Given the description of an element on the screen output the (x, y) to click on. 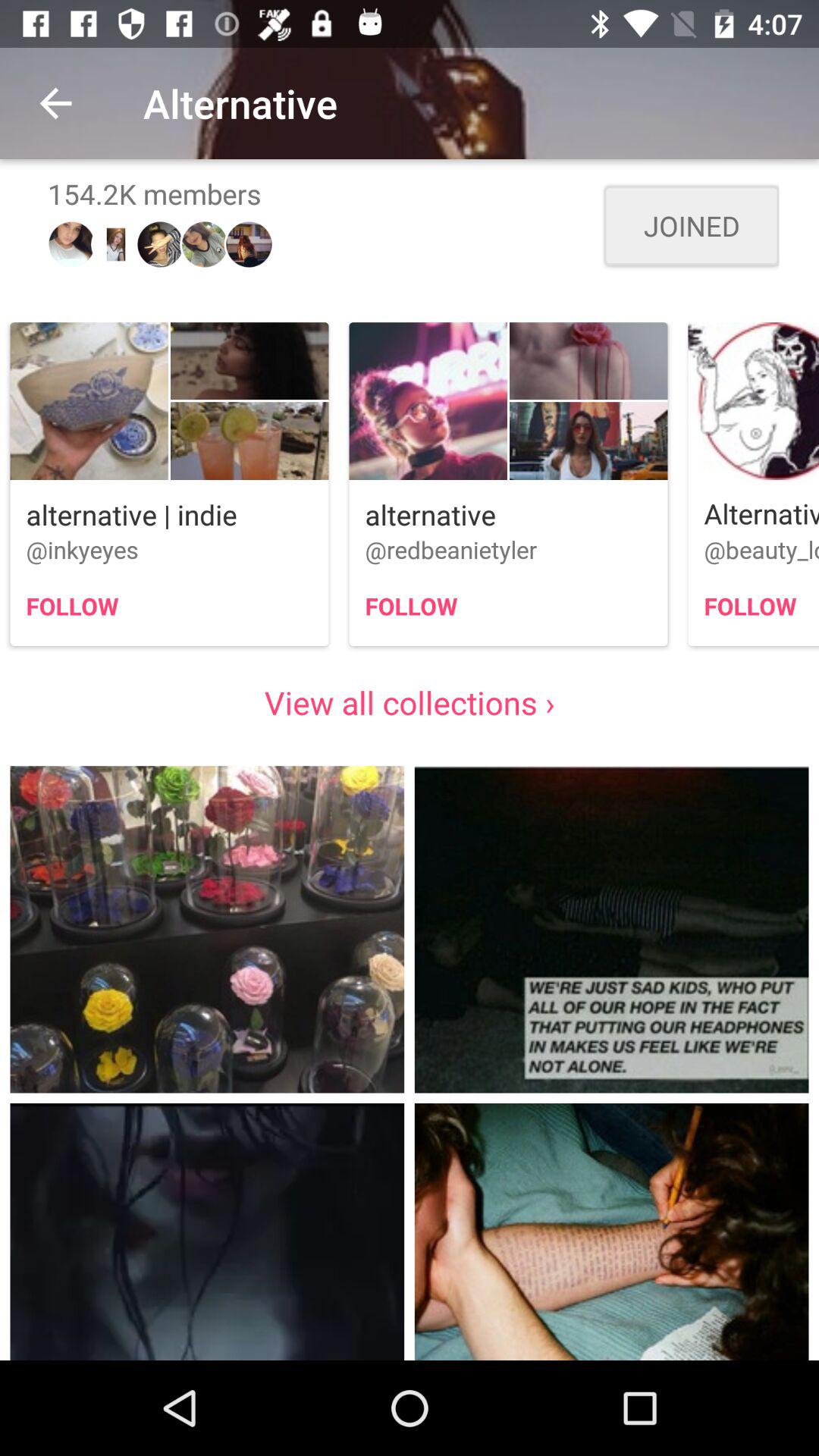
launch the item next to alternative (55, 103)
